Given the description of an element on the screen output the (x, y) to click on. 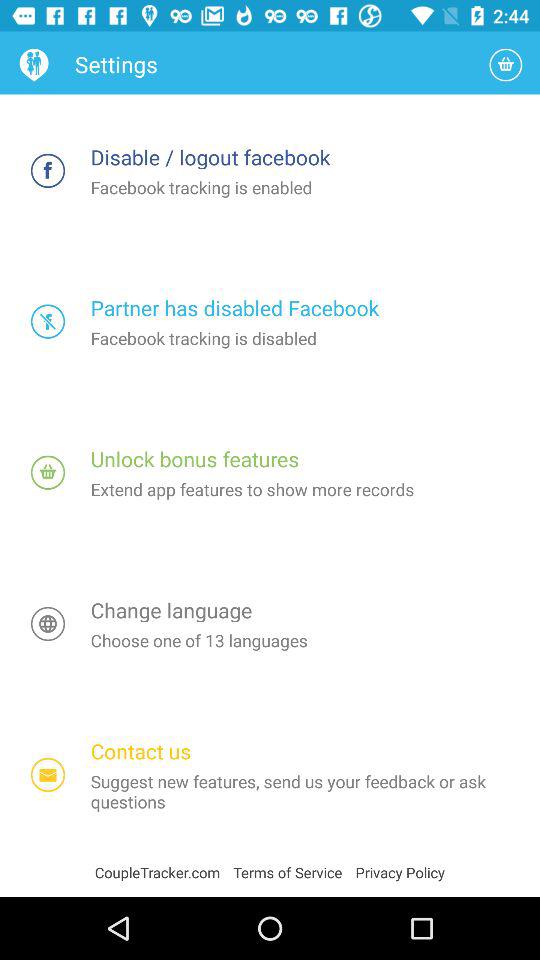
open the item to the left of contact us item (47, 774)
